Given the description of an element on the screen output the (x, y) to click on. 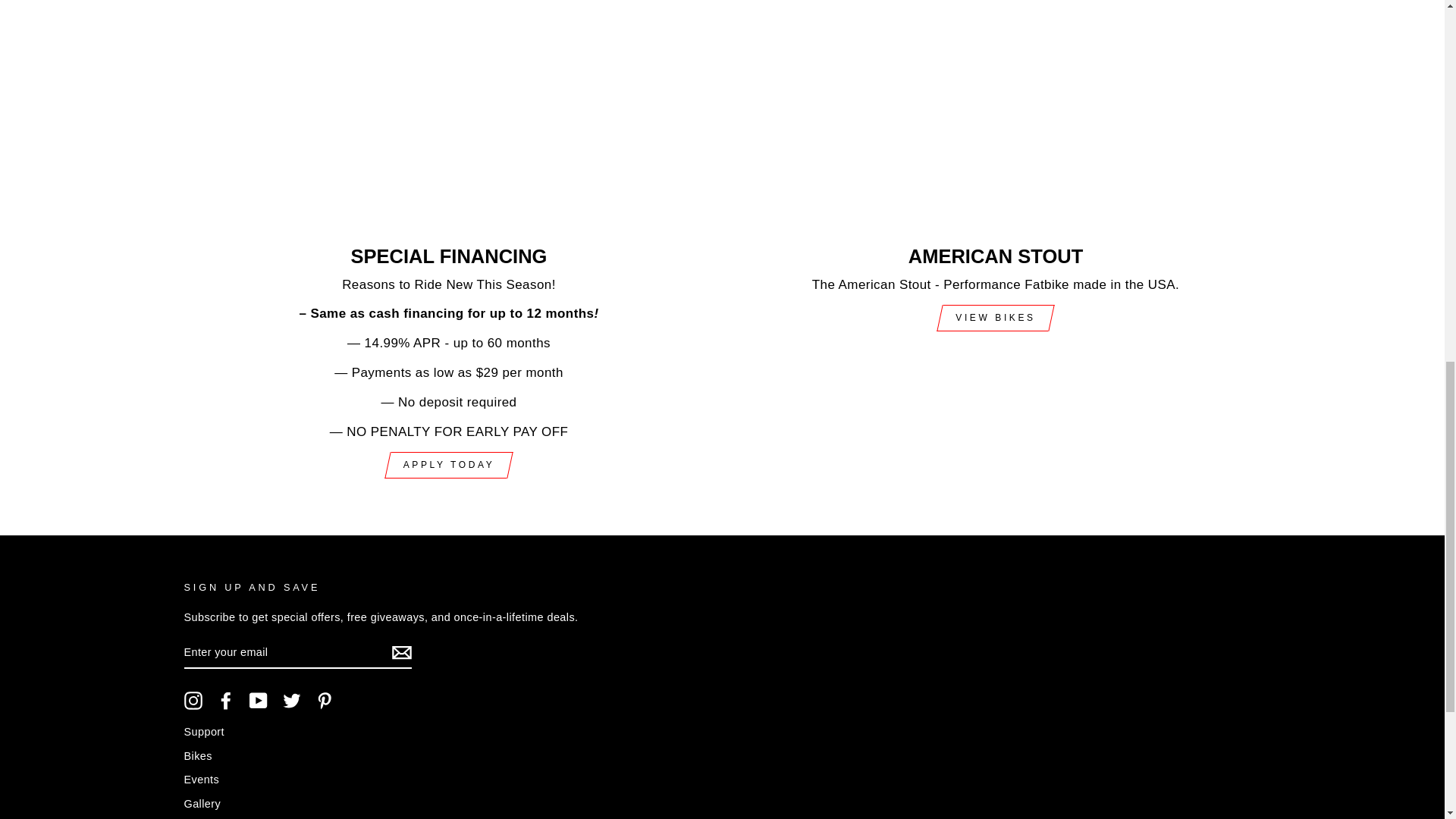
Growler Bikes on Pinterest (324, 700)
Growler Bikes on Instagram (192, 700)
Growler Bikes on YouTube (257, 700)
Growler Bikes on Facebook (225, 700)
Growler Bikes on Twitter (291, 700)
